Given the description of an element on the screen output the (x, y) to click on. 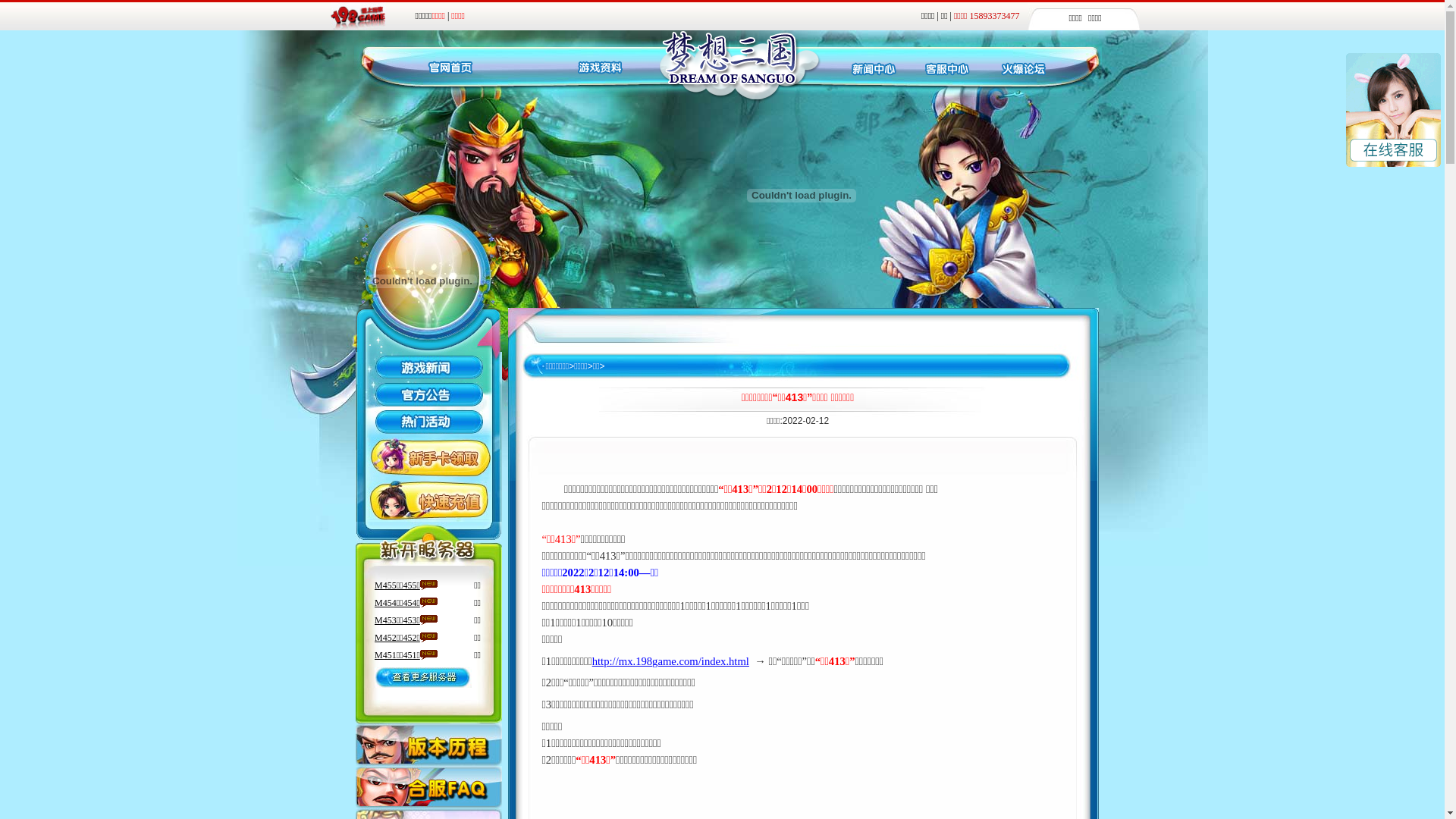
http://mx.198game.com/index.html Element type: text (670, 661)
